Given the description of an element on the screen output the (x, y) to click on. 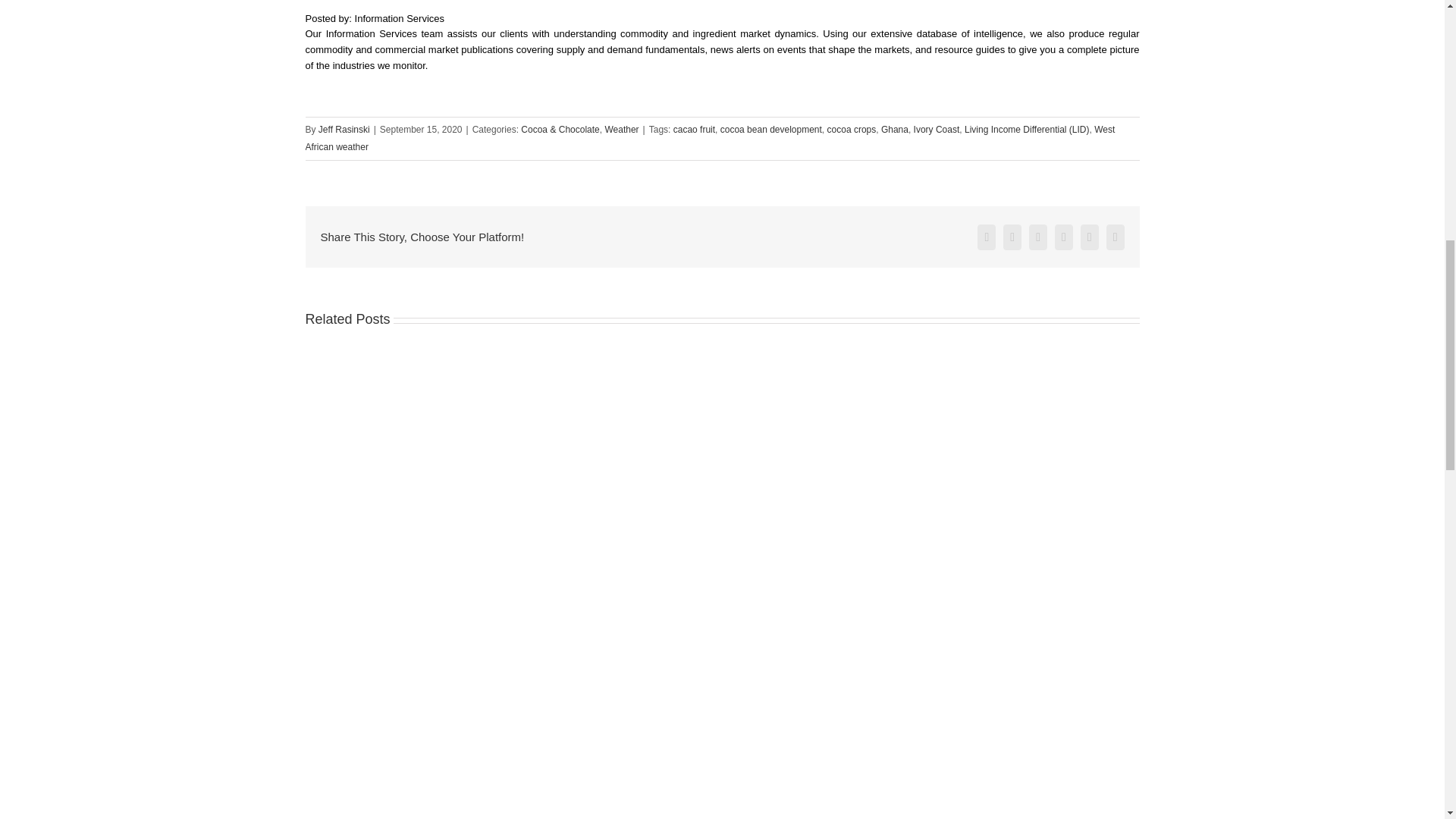
cacao fruit (693, 129)
Ghana (894, 129)
Ivory Coast (936, 129)
West African weather (709, 138)
Jeff Rasinski (343, 129)
cocoa crops (851, 129)
cocoa bean development (771, 129)
Weather (621, 129)
Posts by Jeff Rasinski (343, 129)
